Given the description of an element on the screen output the (x, y) to click on. 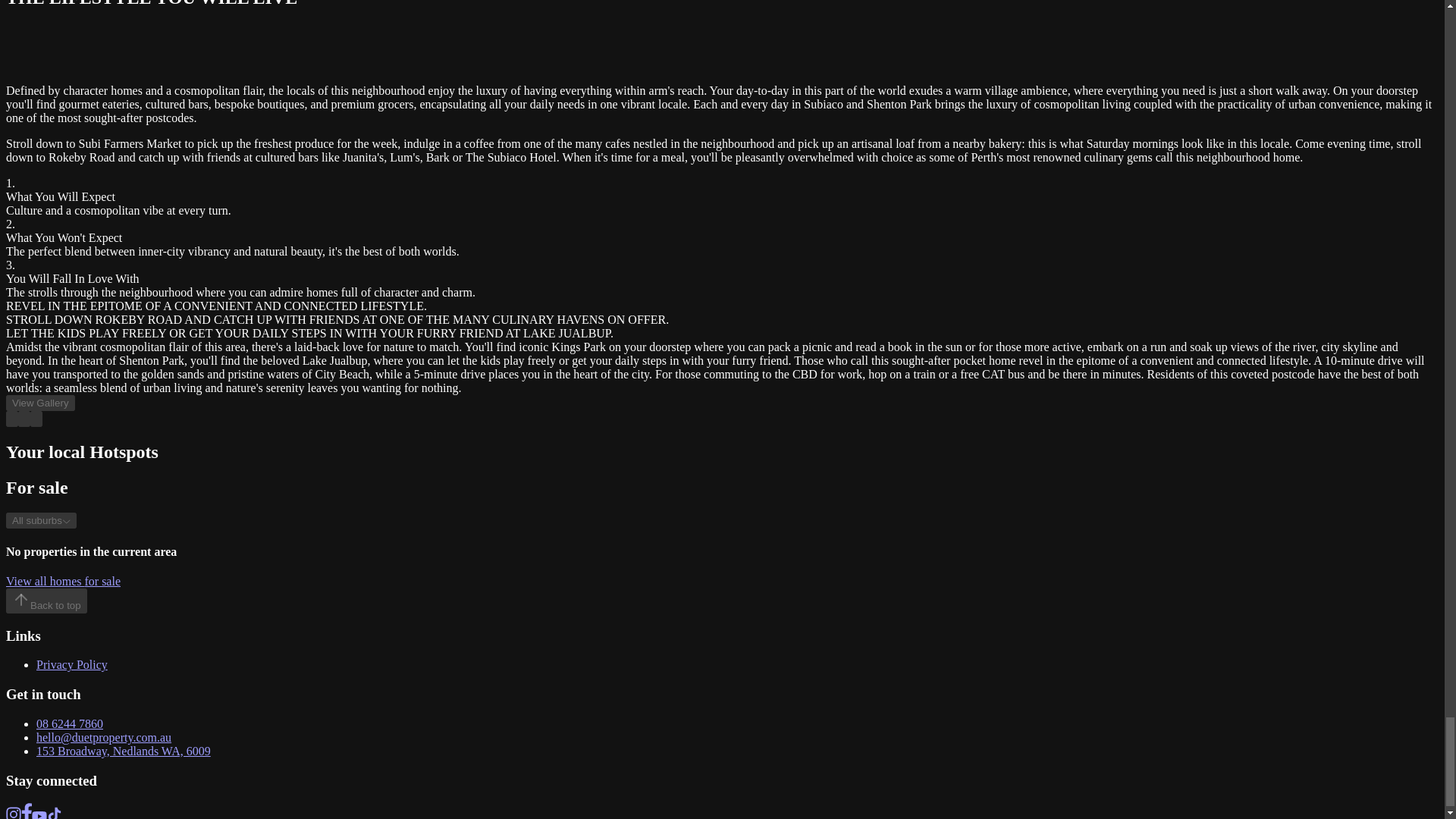
View Gallery (40, 402)
All suburbs (41, 520)
